Given the description of an element on the screen output the (x, y) to click on. 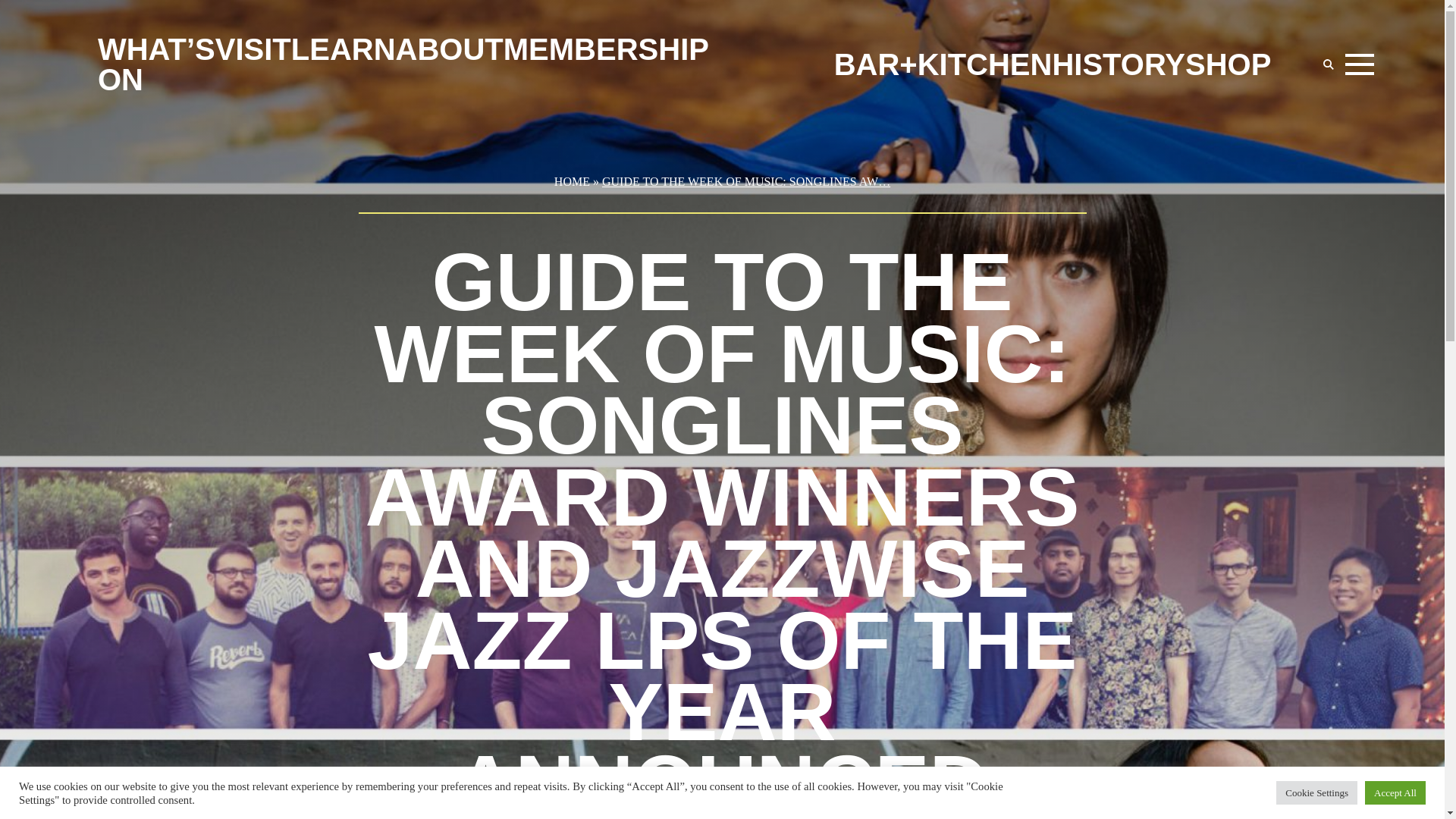
LEARN (343, 49)
SHOP (1228, 64)
VISIT (253, 49)
HISTORY (1118, 64)
MEMBERSHIP (606, 49)
ABOUT (449, 49)
